Given the description of an element on the screen output the (x, y) to click on. 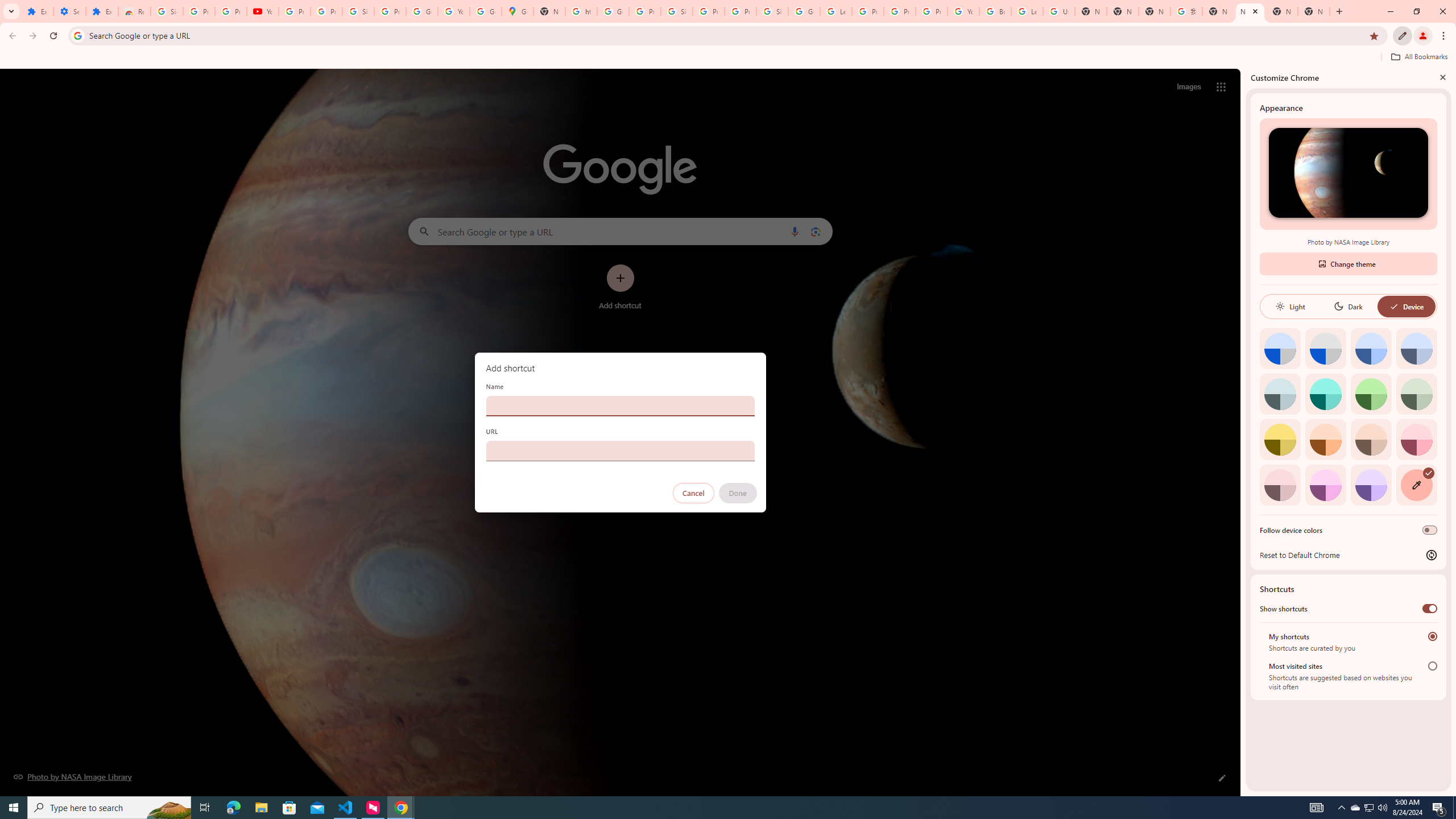
YouTube (963, 11)
YouTube (262, 11)
Fuchsia (1325, 484)
Show shortcuts (1429, 608)
New Tab (1313, 11)
Sign in - Google Accounts (676, 11)
Grey (1279, 393)
Reset to Default Chrome (1347, 554)
